Given the description of an element on the screen output the (x, y) to click on. 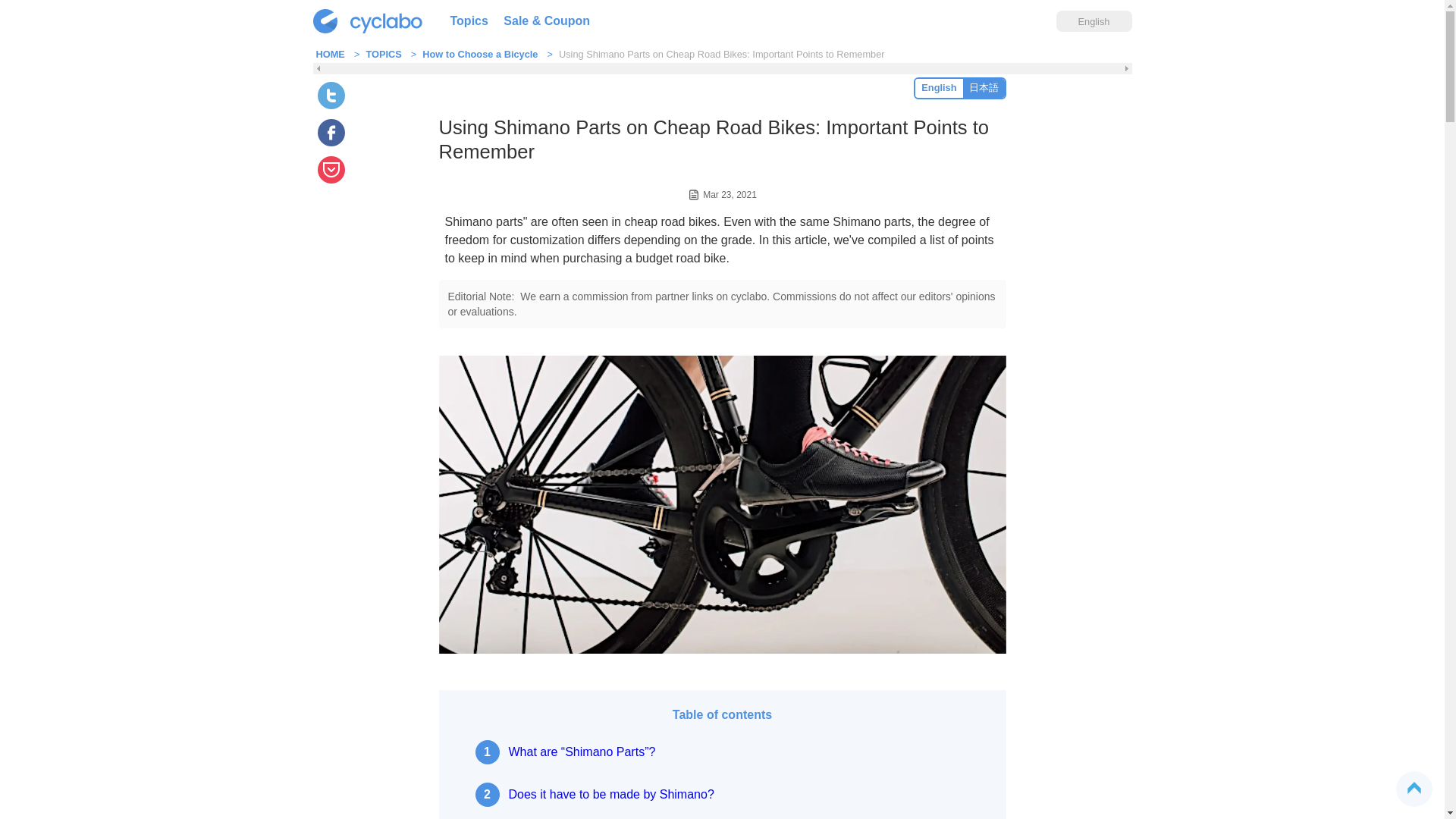
Share to Twitter (331, 94)
How to Choose a Bicycle (479, 53)
TOPICS (383, 53)
HOME (329, 53)
Topics (469, 21)
Share to Facebook (331, 132)
cyclabo (370, 21)
Save to Pocket (331, 169)
Does it have to be made by Shimano? (593, 794)
